Given the description of an element on the screen output the (x, y) to click on. 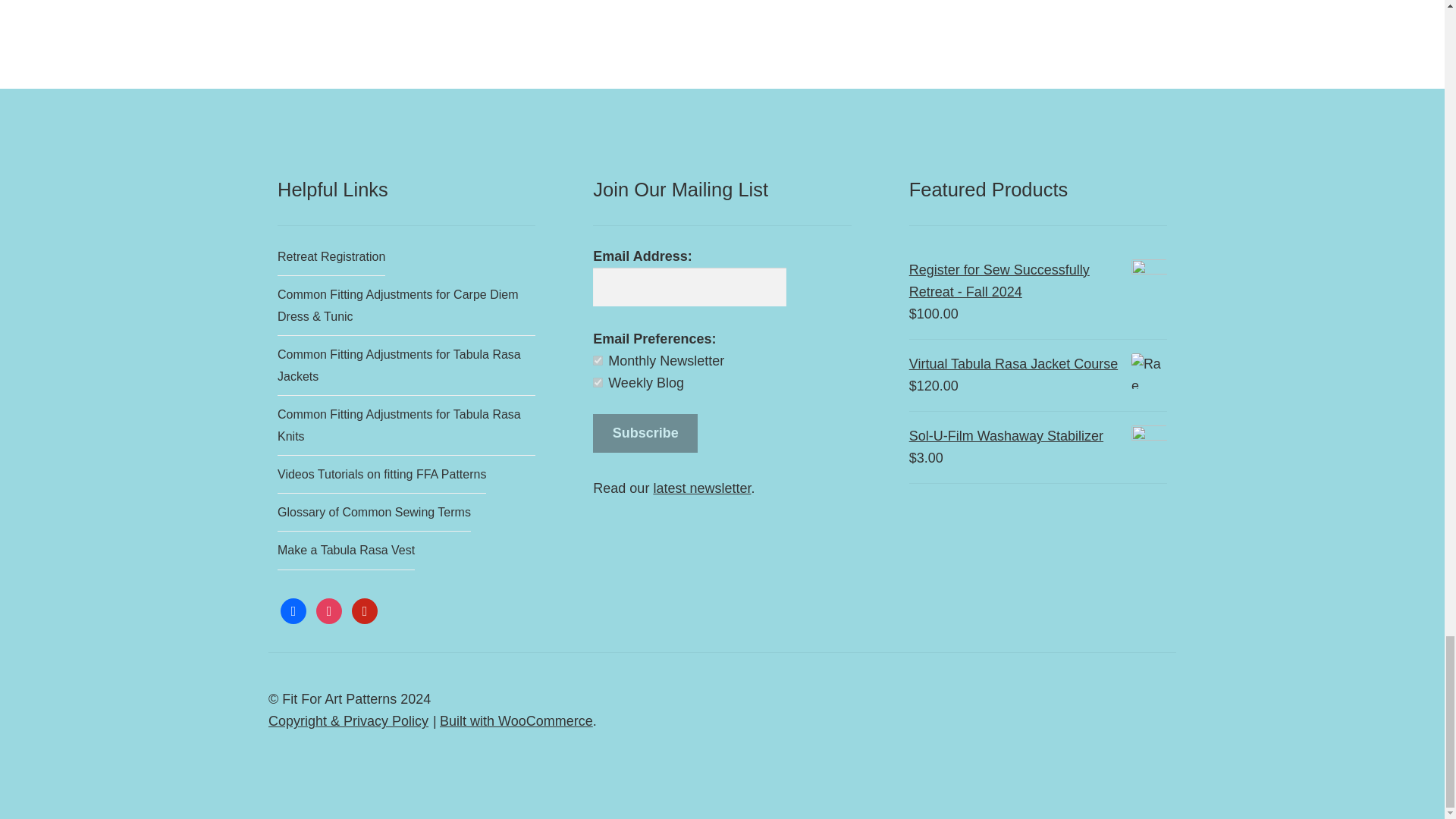
Instagram (328, 610)
1 (597, 360)
Facebook (293, 610)
2 (597, 382)
Subscribe (644, 433)
